Given the description of an element on the screen output the (x, y) to click on. 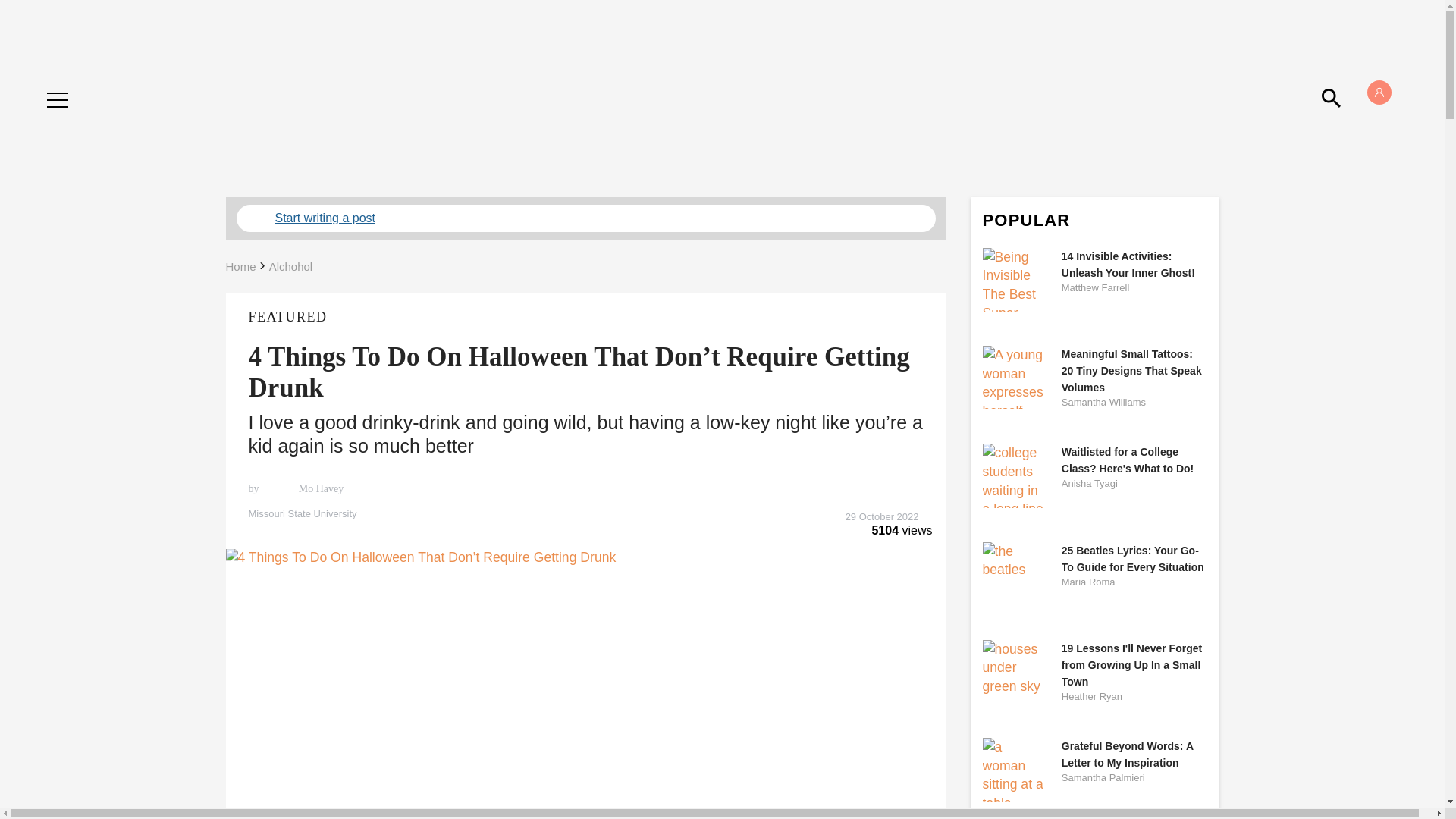
Home (240, 266)
Missouri State University (585, 513)
Mo Havey (319, 489)
Alchohol (291, 266)
Start writing a post (585, 217)
GO BACK (79, 85)
